Given the description of an element on the screen output the (x, y) to click on. 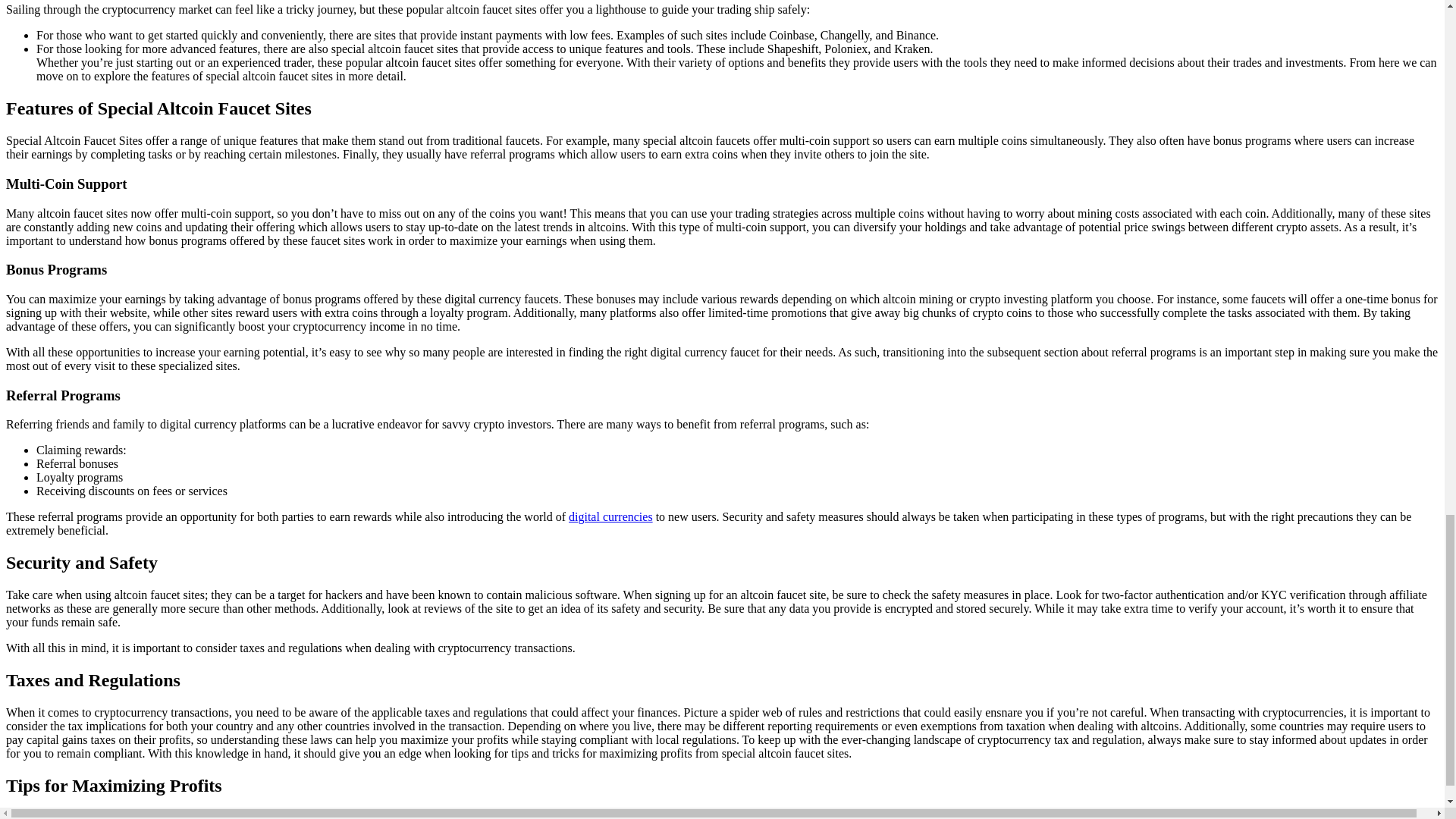
digital currencies (610, 516)
digital currencies (610, 516)
